Given the description of an element on the screen output the (x, y) to click on. 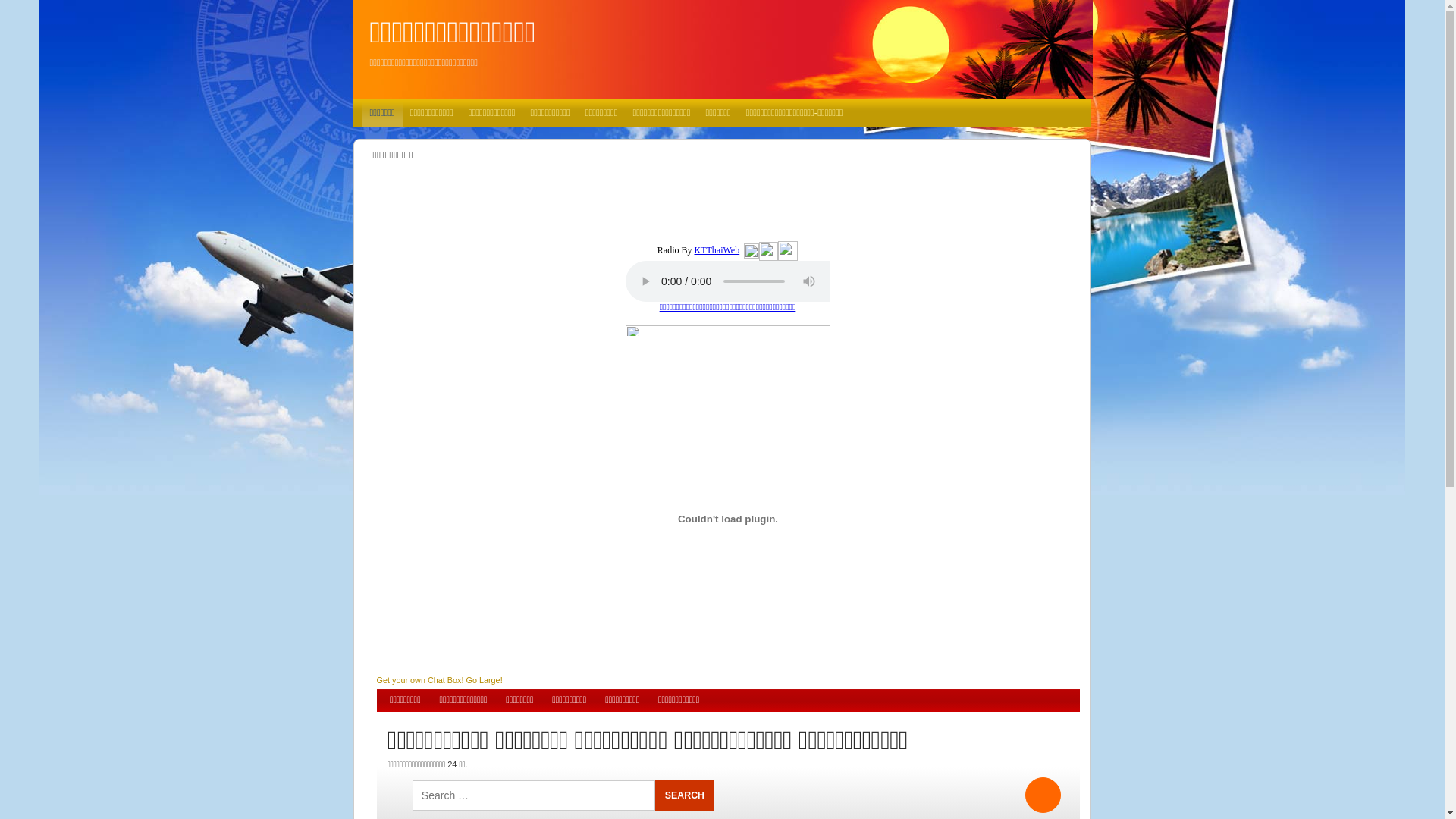
Get your own Chat Box! Element type: text (419, 679)
Go Large! Element type: text (483, 679)
